Given the description of an element on the screen output the (x, y) to click on. 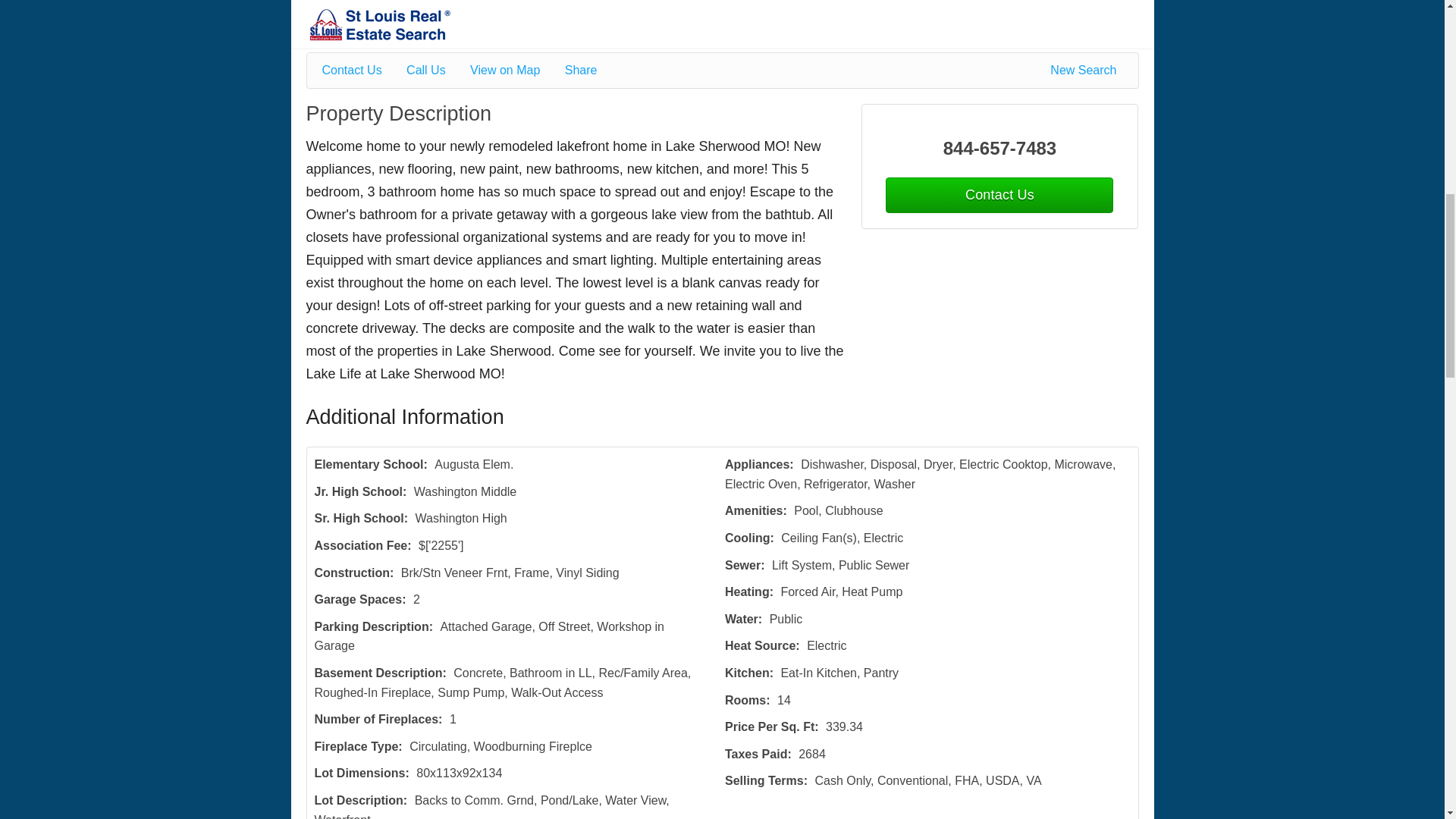
View on Map (515, 69)
Share (591, 69)
844-657-7483 (999, 148)
Contact Us (362, 69)
New Search (1085, 69)
Contact Us (999, 194)
Call Us (436, 69)
